Given the description of an element on the screen output the (x, y) to click on. 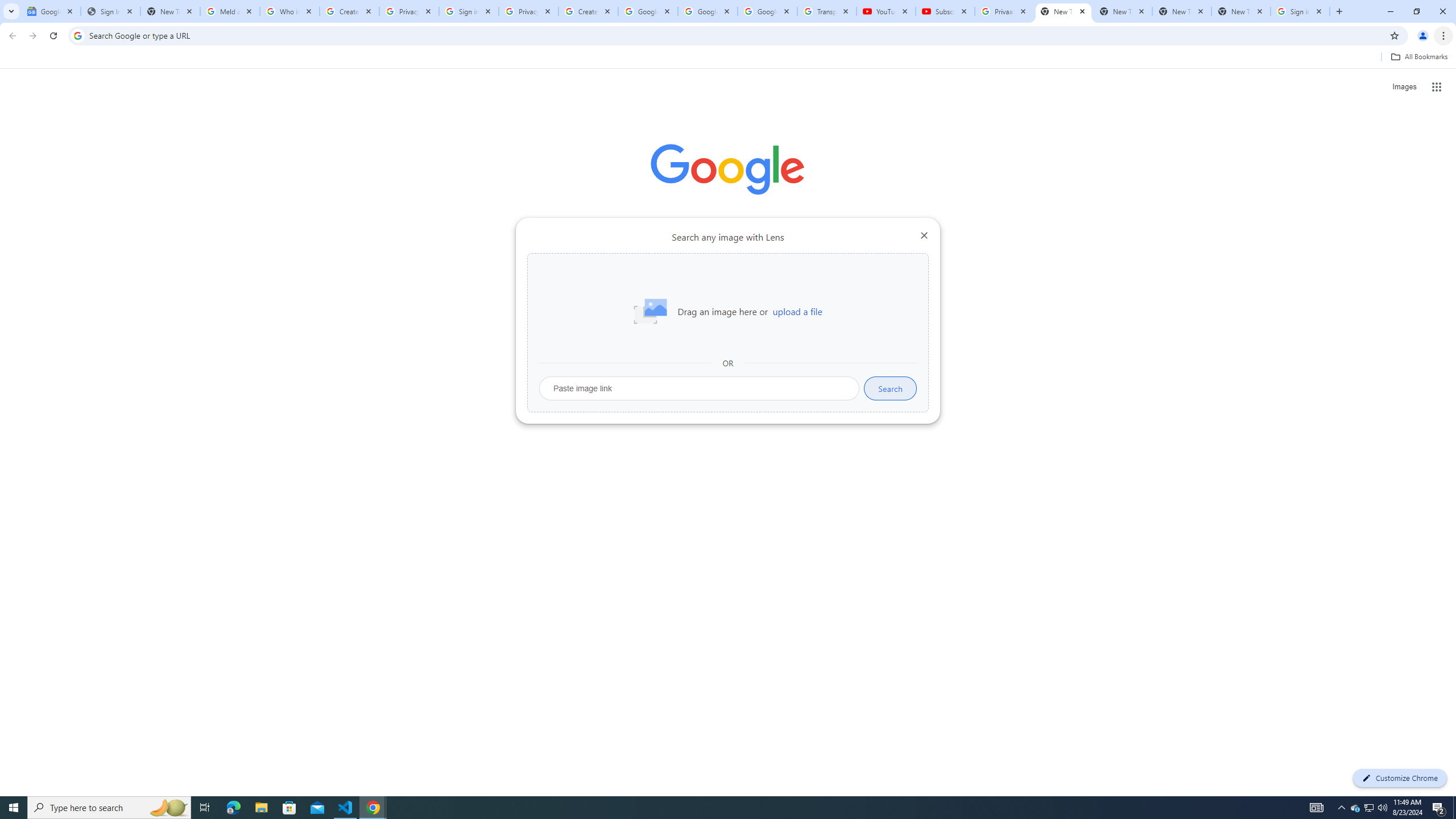
Subscriptions - YouTube (944, 11)
